Given the description of an element on the screen output the (x, y) to click on. 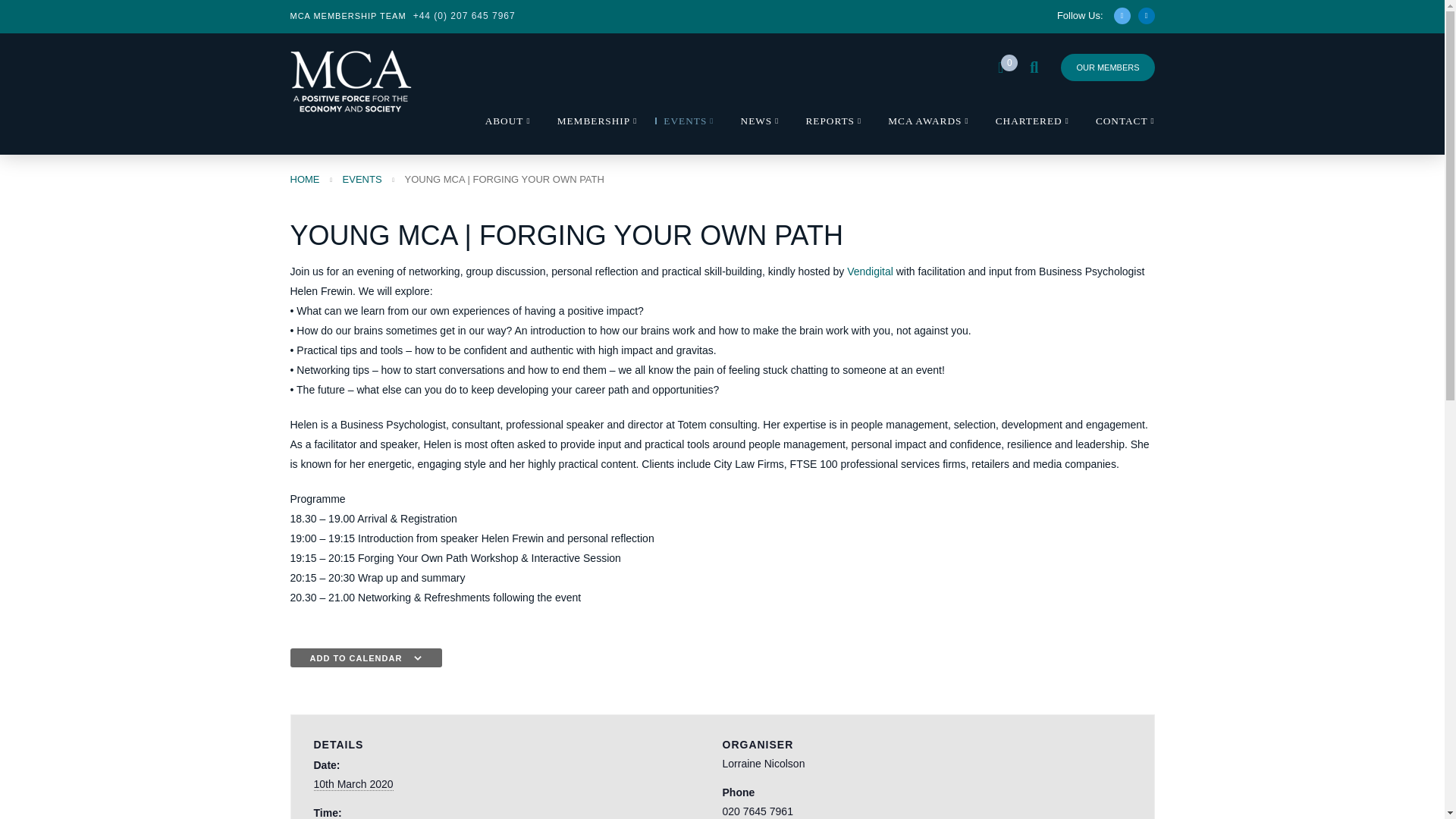
ABOUT (504, 124)
OUR MEMBERS (1107, 67)
MEMBERSHIP (592, 124)
2020-03-10 (353, 784)
Lorraine Nicolson (763, 763)
